Given the description of an element on the screen output the (x, y) to click on. 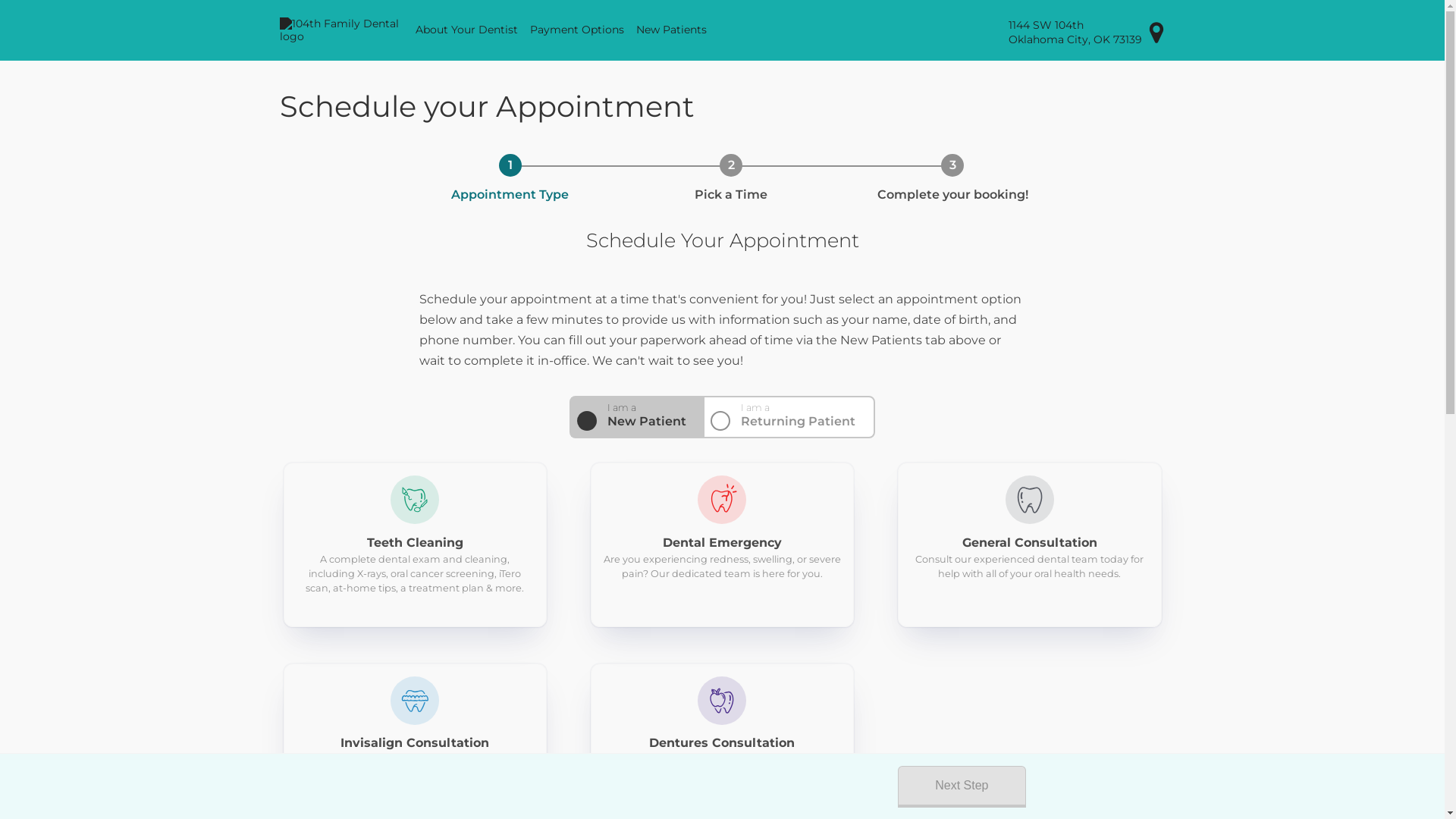
New Patients Element type: text (671, 29)
Next Step Element type: text (961, 786)
1144 SW 104th
Oklahoma City, OK 73139 Element type: text (1086, 31)
Payment Options Element type: text (577, 29)
About Your Dentist Element type: text (466, 29)
